Given the description of an element on the screen output the (x, y) to click on. 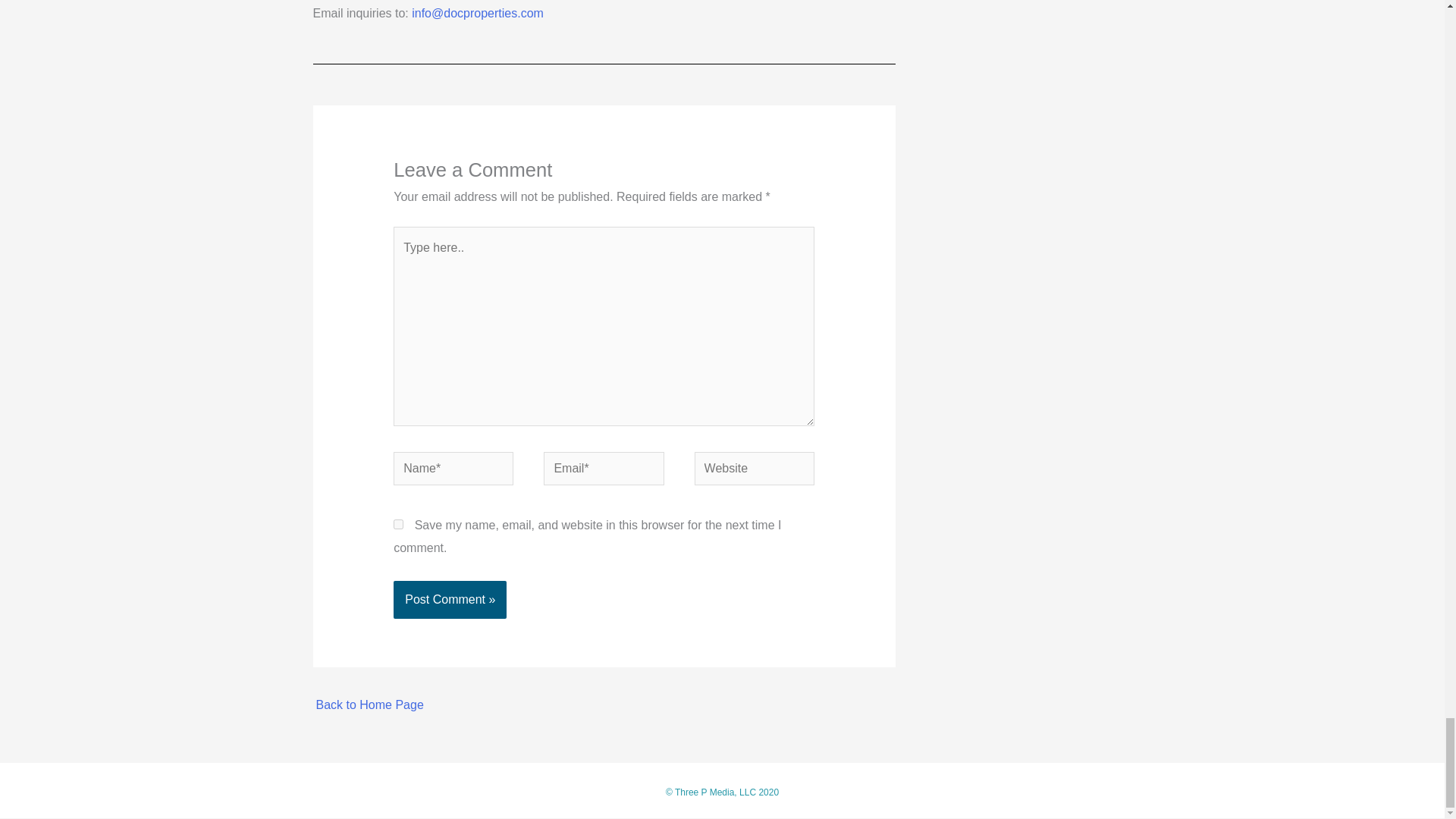
yes (398, 524)
